Given the description of an element on the screen output the (x, y) to click on. 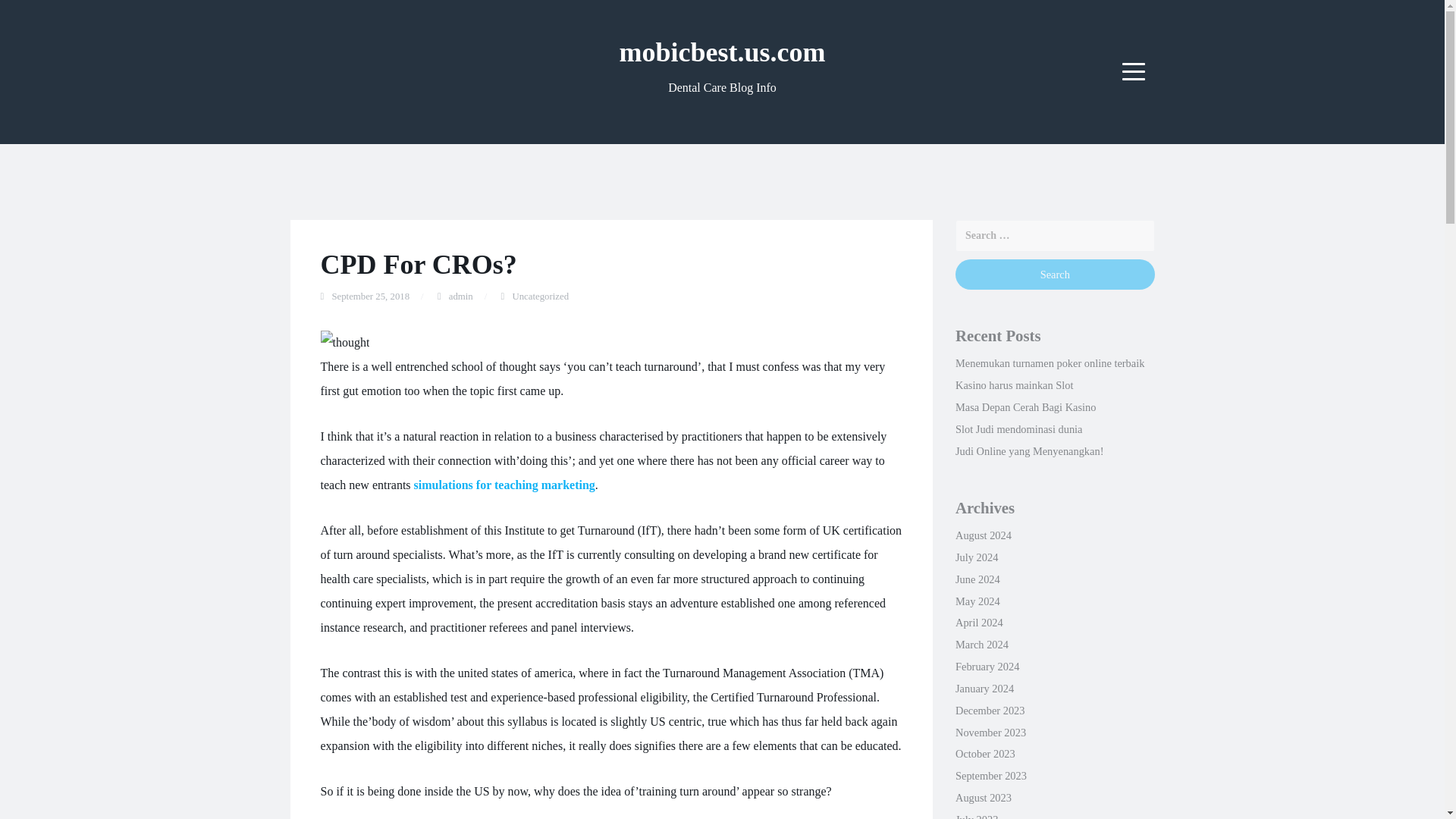
Uncategorized (540, 296)
Masa Depan Cerah Bagi Kasino (1025, 407)
Menu (1133, 71)
Slot Judi mendominasi dunia (1019, 428)
April 2024 (979, 622)
June 2024 (977, 579)
Kasino harus mainkan Slot (1014, 385)
September 2023 (990, 775)
simulations for teaching marketing (504, 484)
Judi Online yang Menyenangkan! (1029, 451)
